Given the description of an element on the screen output the (x, y) to click on. 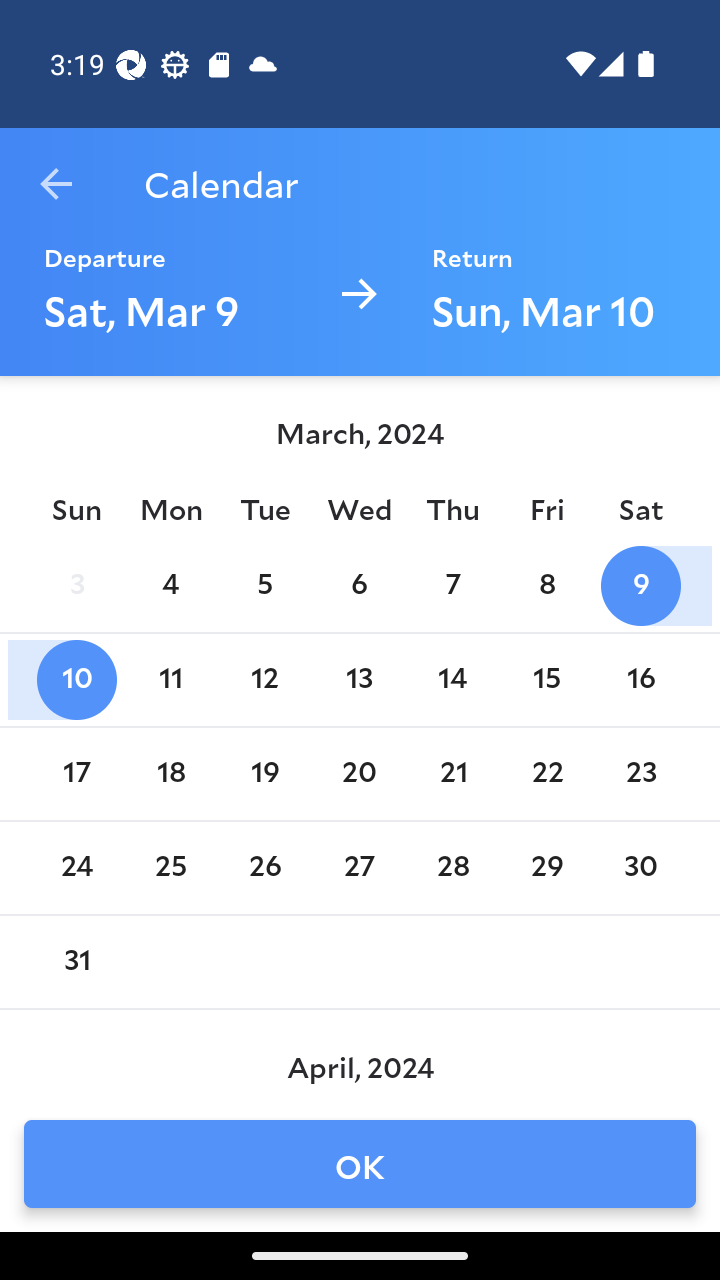
Navigate up (56, 184)
3 (76, 585)
4 (170, 585)
5 (264, 585)
6 (358, 585)
7 (453, 585)
8 (546, 585)
9 (641, 585)
10 (76, 679)
11 (170, 679)
12 (264, 679)
13 (358, 679)
14 (453, 679)
15 (546, 679)
16 (641, 679)
17 (76, 773)
18 (170, 773)
19 (264, 773)
20 (358, 773)
21 (453, 773)
22 (546, 773)
23 (641, 773)
24 (76, 867)
25 (170, 867)
26 (264, 867)
27 (358, 867)
28 (453, 867)
29 (546, 867)
30 (641, 867)
31 (76, 961)
OK (359, 1164)
